Given the description of an element on the screen output the (x, y) to click on. 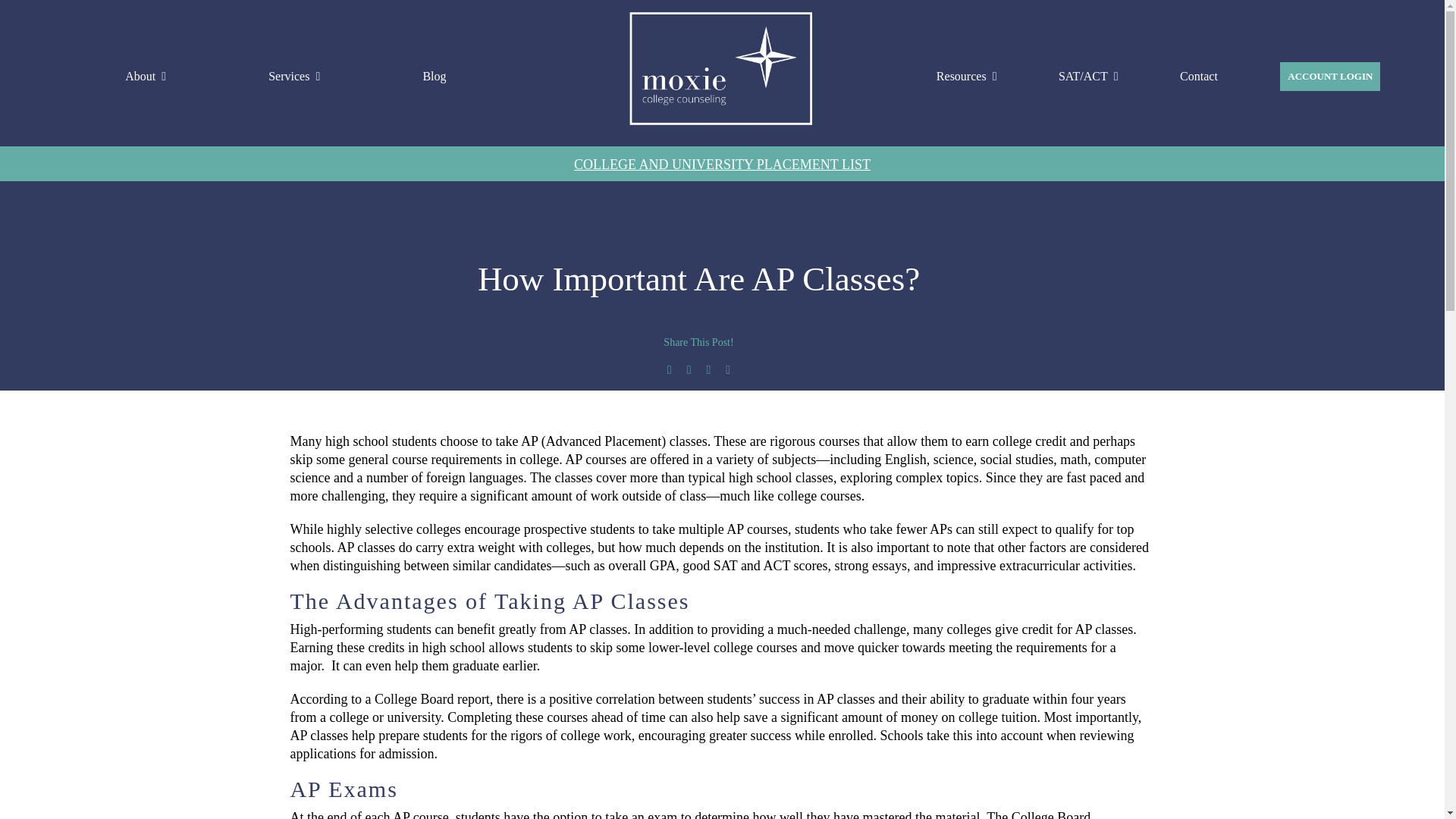
About (145, 76)
 - Moxie College Counseling (721, 69)
Services (293, 76)
